Given the description of an element on the screen output the (x, y) to click on. 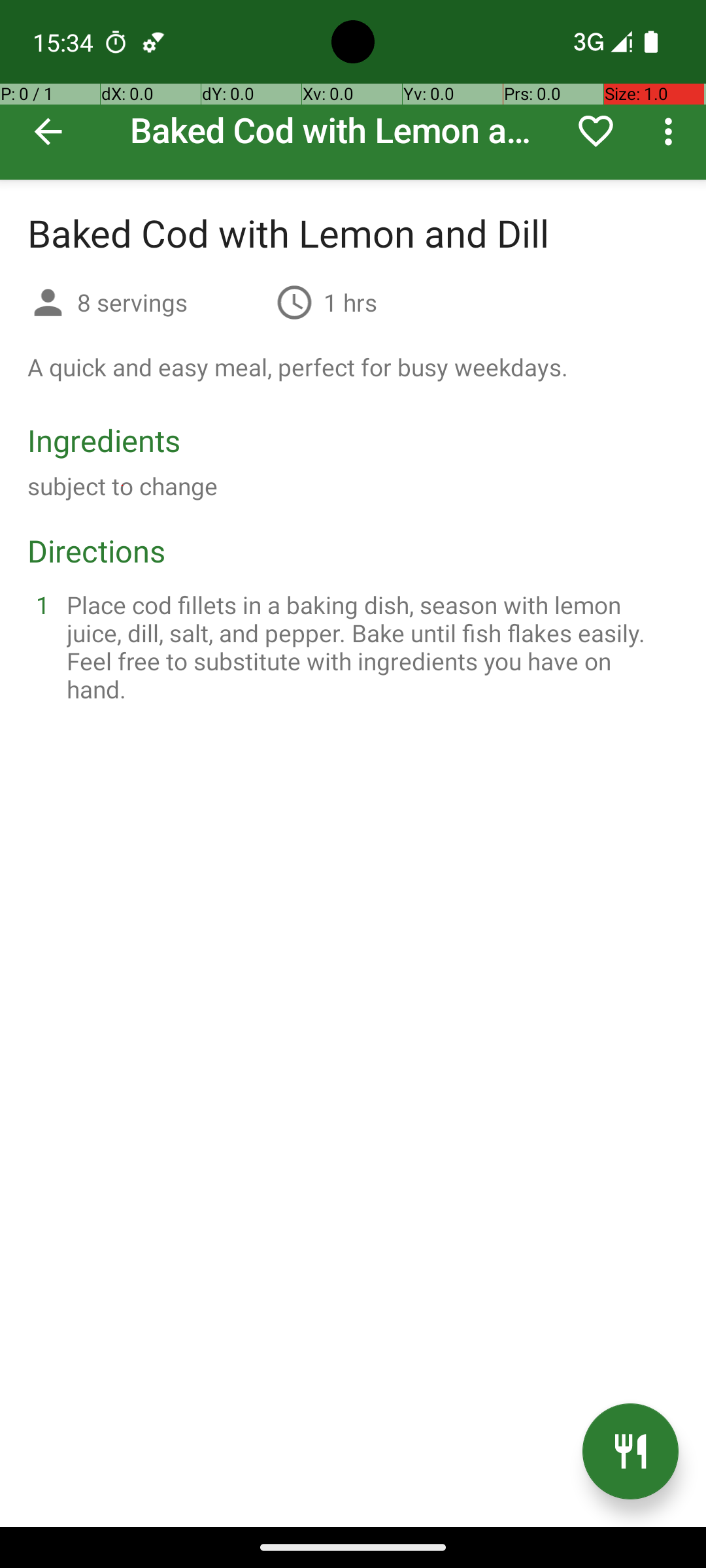
Place cod fillets in a baking dish, season with lemon juice, dill, salt, and pepper. Bake until fish flakes easily. Feel free to substitute with ingredients you have on hand. Element type: android.widget.TextView (368, 646)
